Given the description of an element on the screen output the (x, y) to click on. 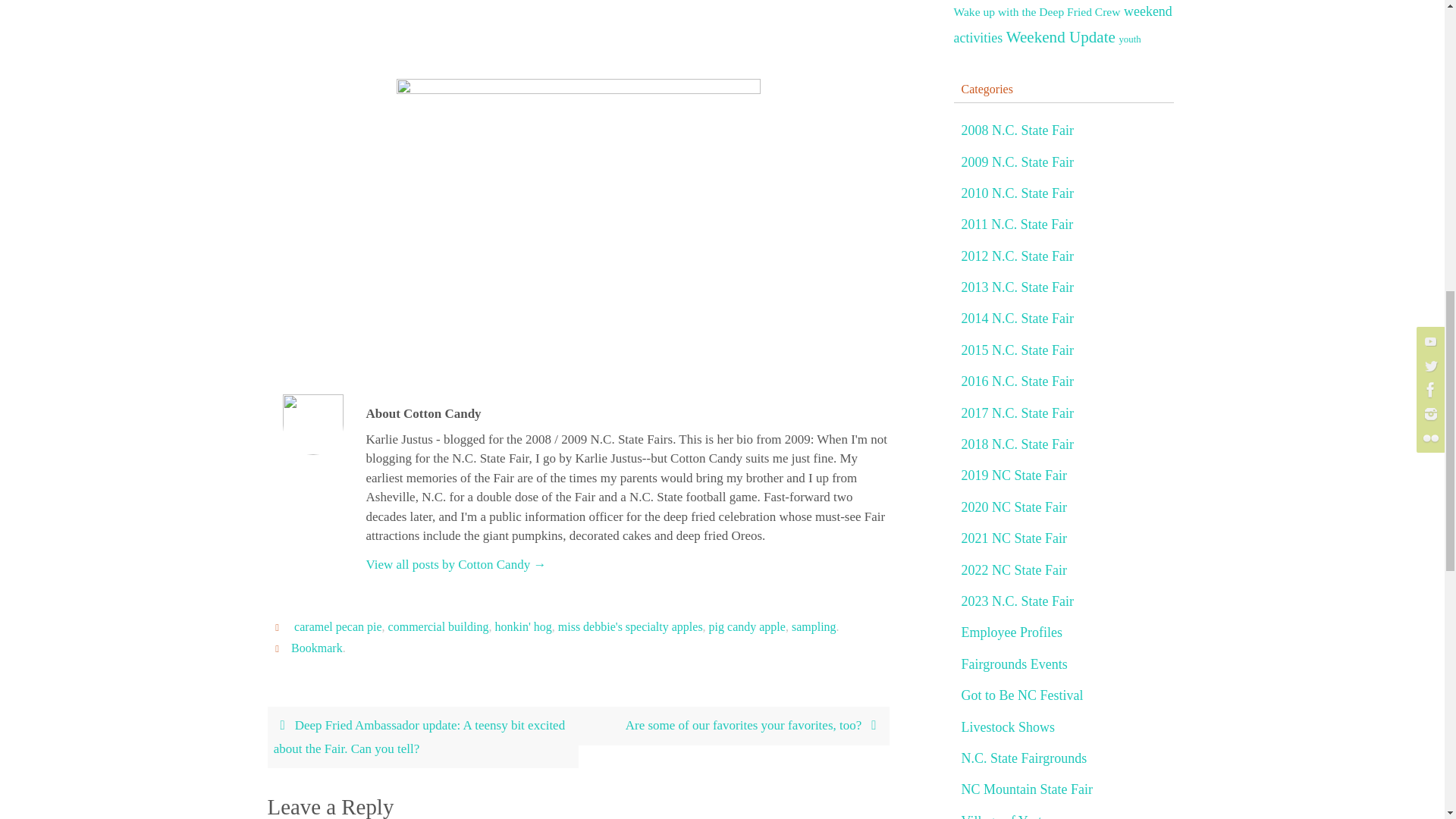
Are some of our favorites your favorites, too? (733, 725)
 Bookmark the permalink (278, 647)
honkin' hog (523, 626)
Bookmark (316, 648)
sampling (813, 626)
caramel pecan pie (337, 626)
commercial building (438, 626)
miss debbie's specialty apples (630, 626)
Tagged (278, 626)
pig candy apple (747, 626)
